Given the description of an element on the screen output the (x, y) to click on. 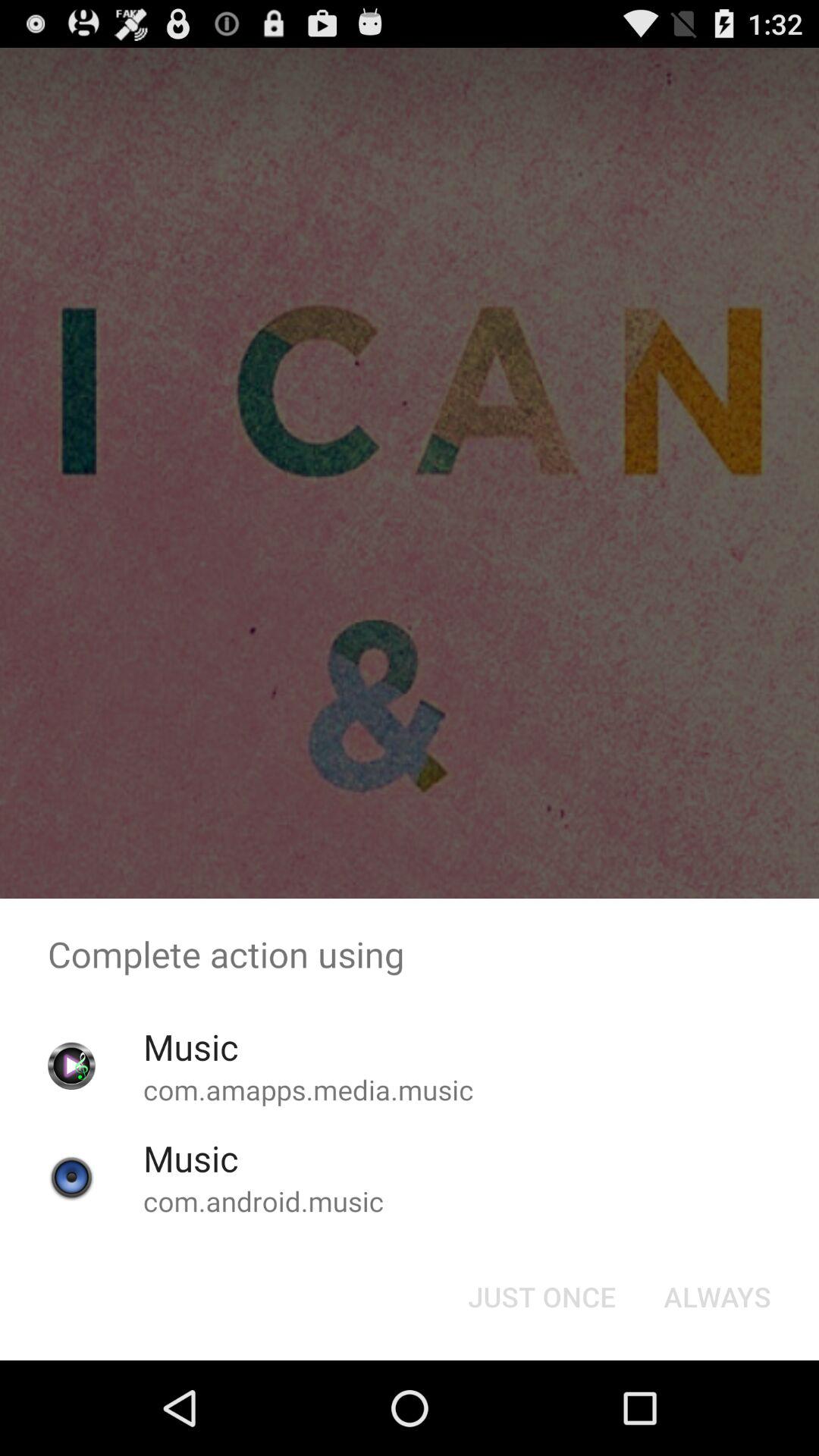
click the always button (717, 1296)
